Given the description of an element on the screen output the (x, y) to click on. 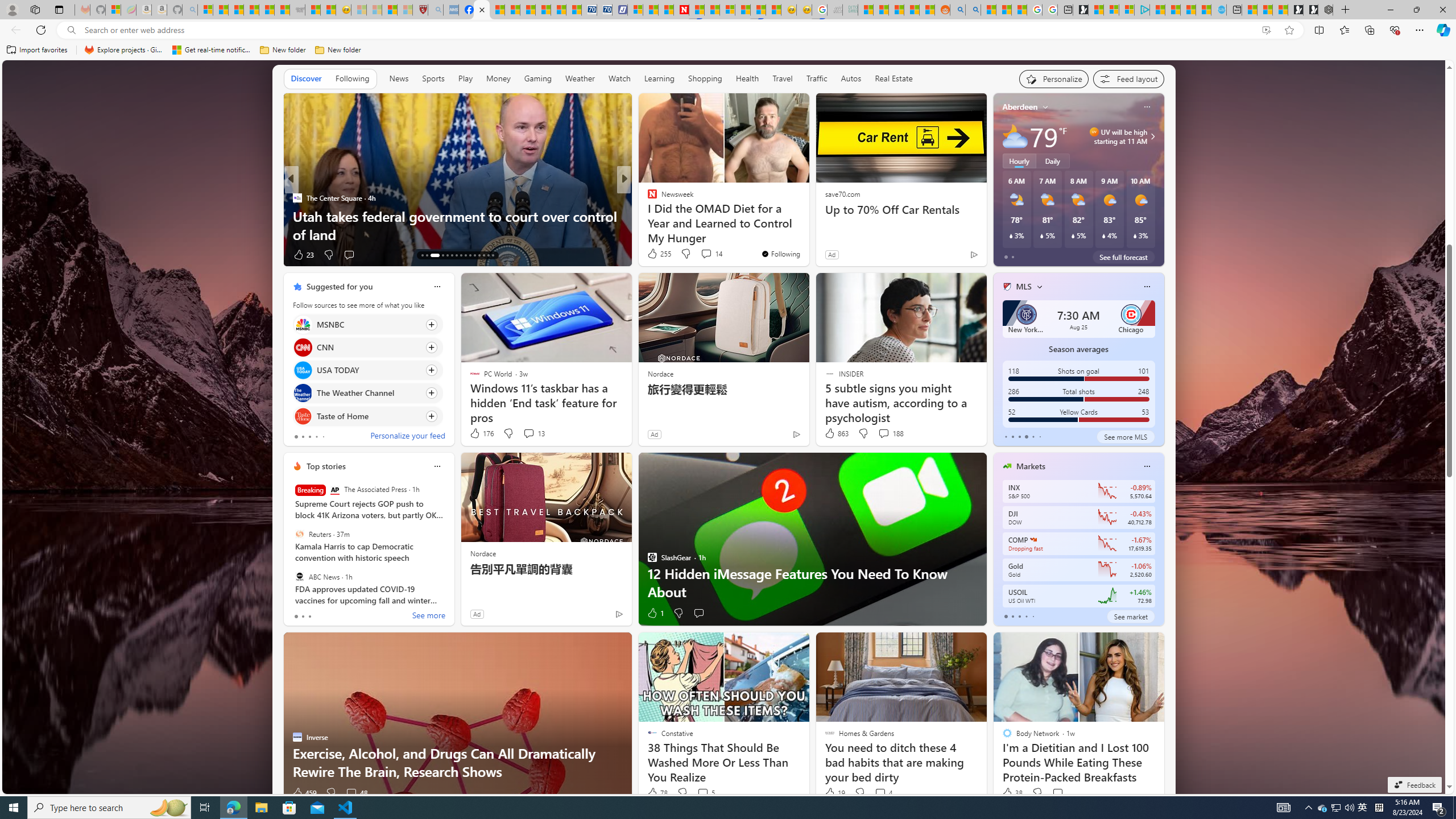
Click to follow source The Weather Channel (367, 392)
UV will be high starting at 11 AM (1150, 136)
ABC News (299, 576)
Favorites bar (728, 49)
View comments 24 Comment (703, 254)
AutomationID: tab-66 (422, 255)
View comments 24 Comment (707, 254)
